Given the description of an element on the screen output the (x, y) to click on. 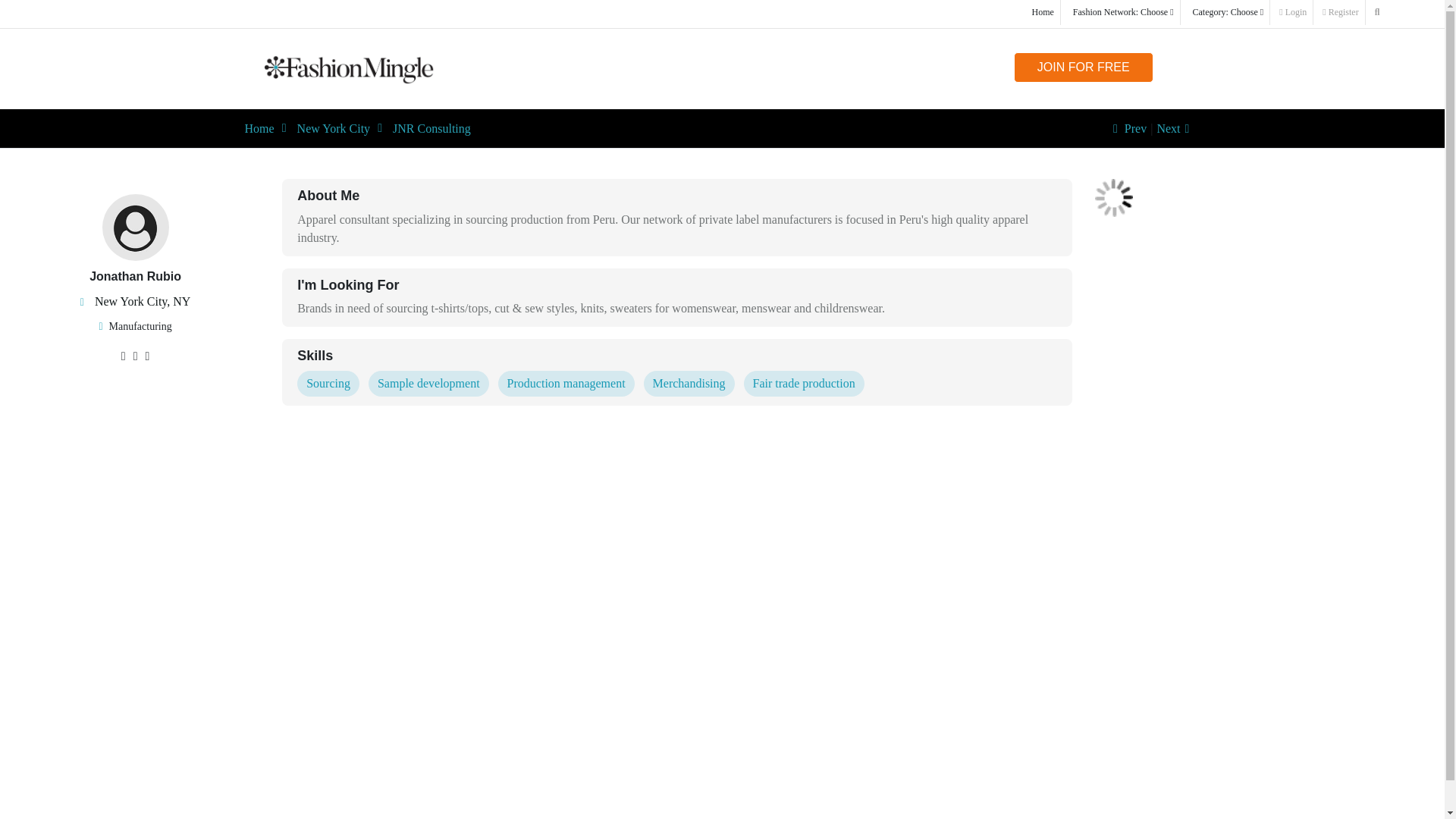
Home (258, 128)
Next (1175, 128)
Register (1340, 12)
New York City (333, 128)
Merchandising (689, 383)
Category: Choose (1228, 12)
Production management (565, 383)
Login (1292, 12)
JOIN FOR FREE (1083, 67)
Fair trade production (804, 383)
